Given the description of an element on the screen output the (x, y) to click on. 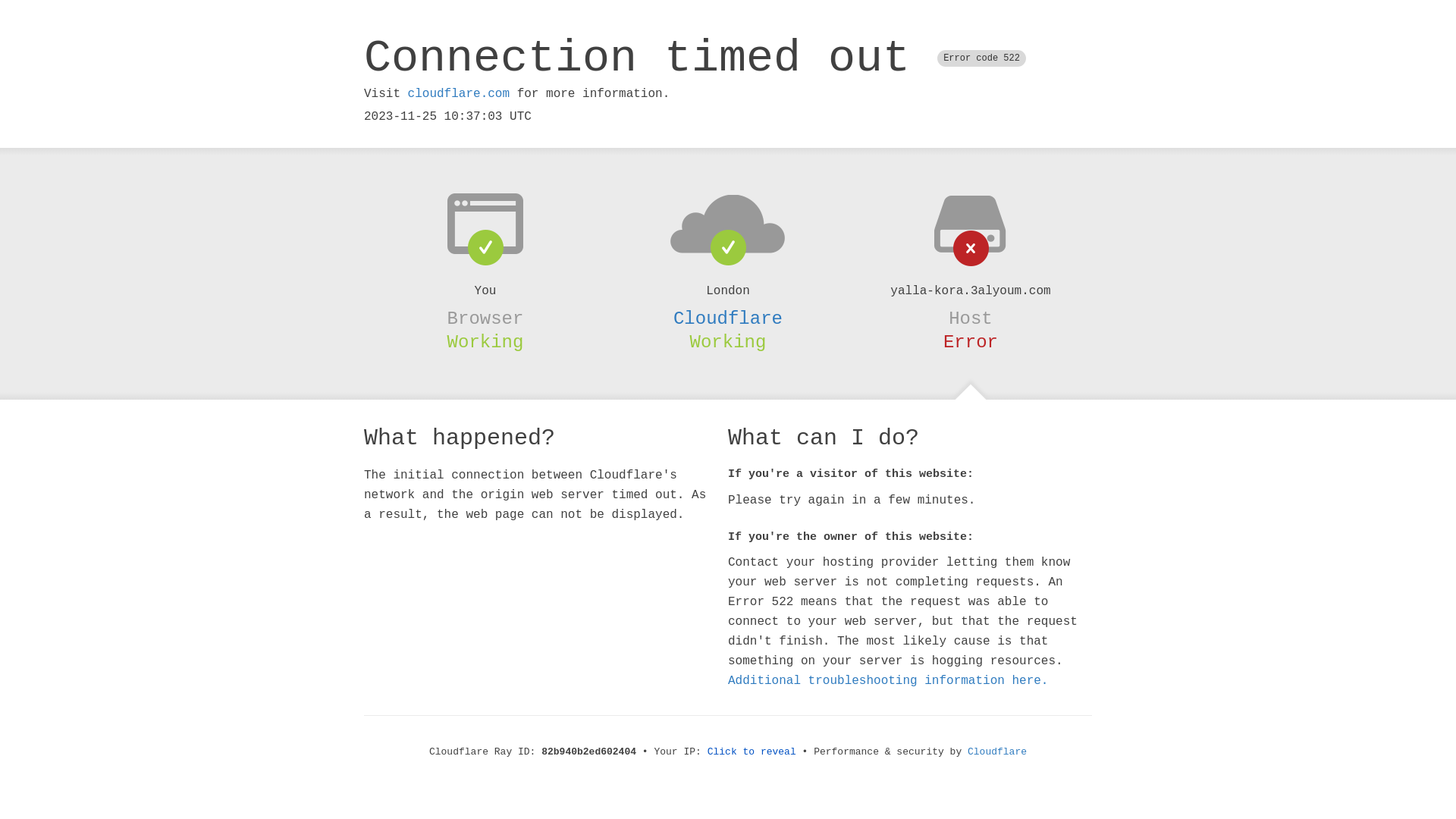
cloudflare.com Element type: text (458, 93)
Cloudflare Element type: text (727, 318)
Cloudflare Element type: text (996, 751)
Click to reveal Element type: text (751, 751)
Additional troubleshooting information here. Element type: text (888, 680)
